Given the description of an element on the screen output the (x, y) to click on. 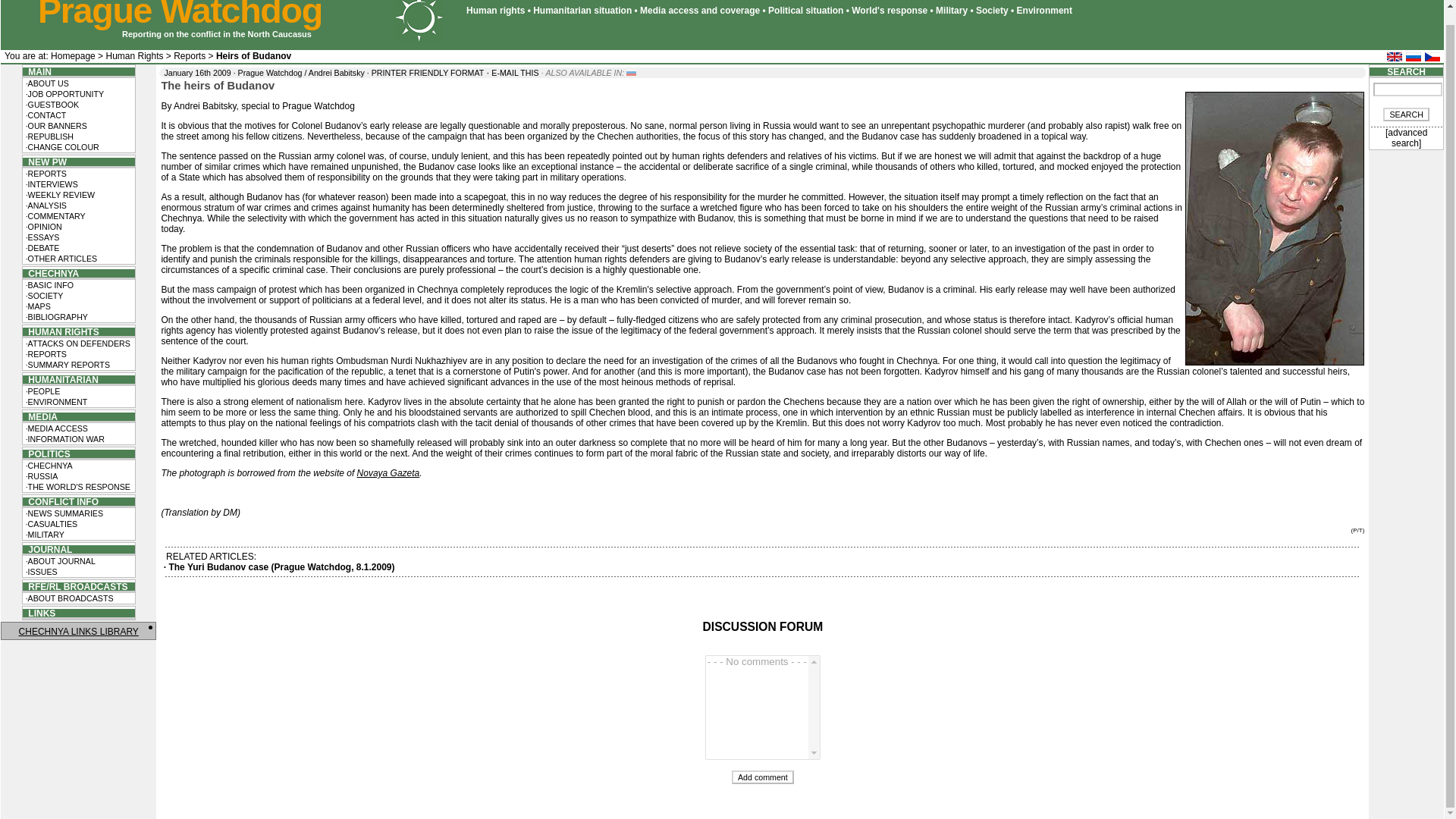
Homepage (73, 55)
Reports (189, 55)
Add comment (762, 776)
  MAIN (36, 71)
  HUMANITARIAN (61, 378)
SEARCH (1405, 114)
  HUMAN RIGHTS (61, 331)
Human Rights (133, 55)
  NEW PW (44, 162)
Prague Watchdog (179, 15)
